Given the description of an element on the screen output the (x, y) to click on. 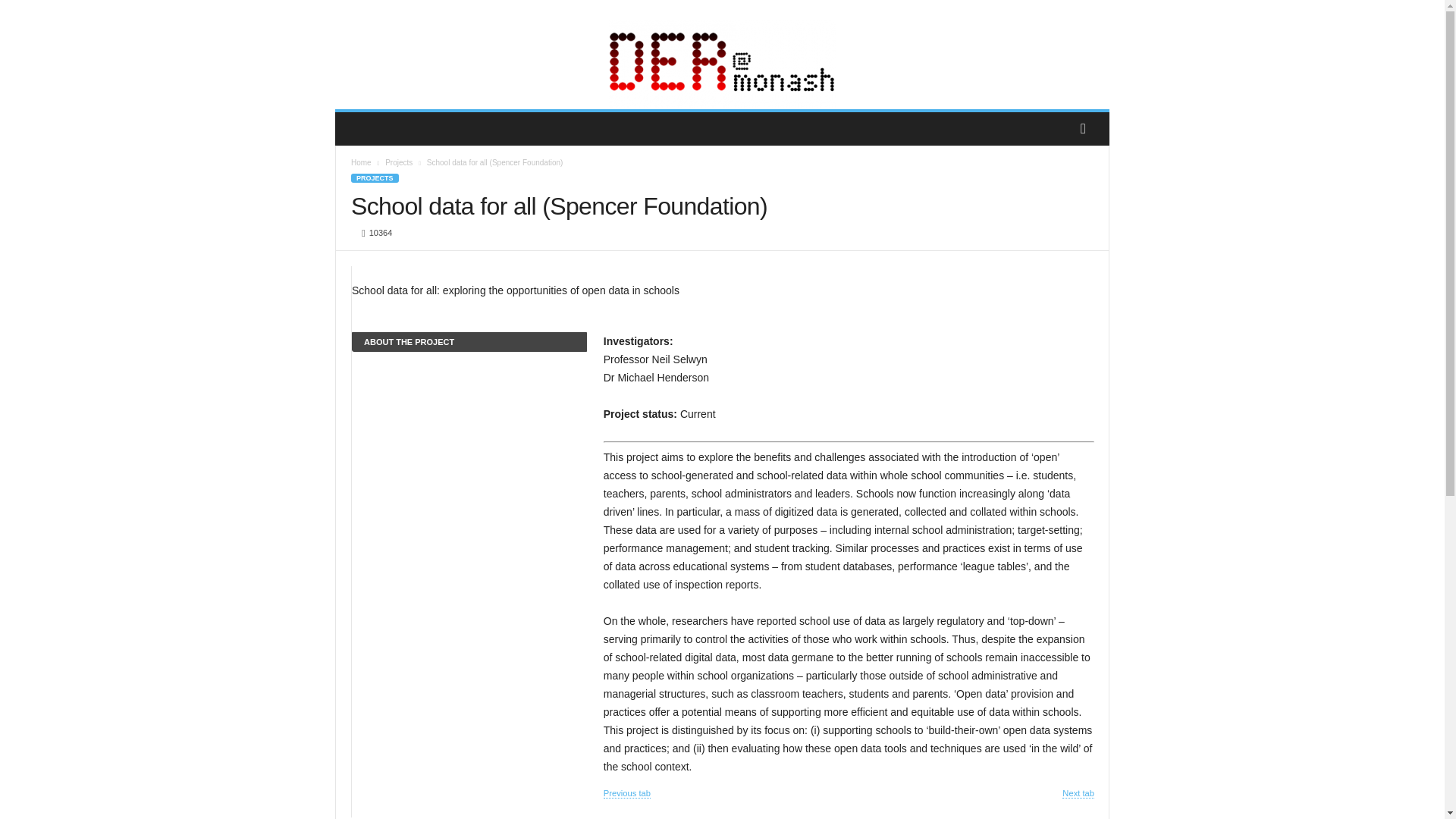
Previous tab (627, 793)
Home (360, 162)
Next tab (1078, 793)
Projects (398, 162)
View all posts in Projects (398, 162)
PROJECTS (374, 177)
